Given the description of an element on the screen output the (x, y) to click on. 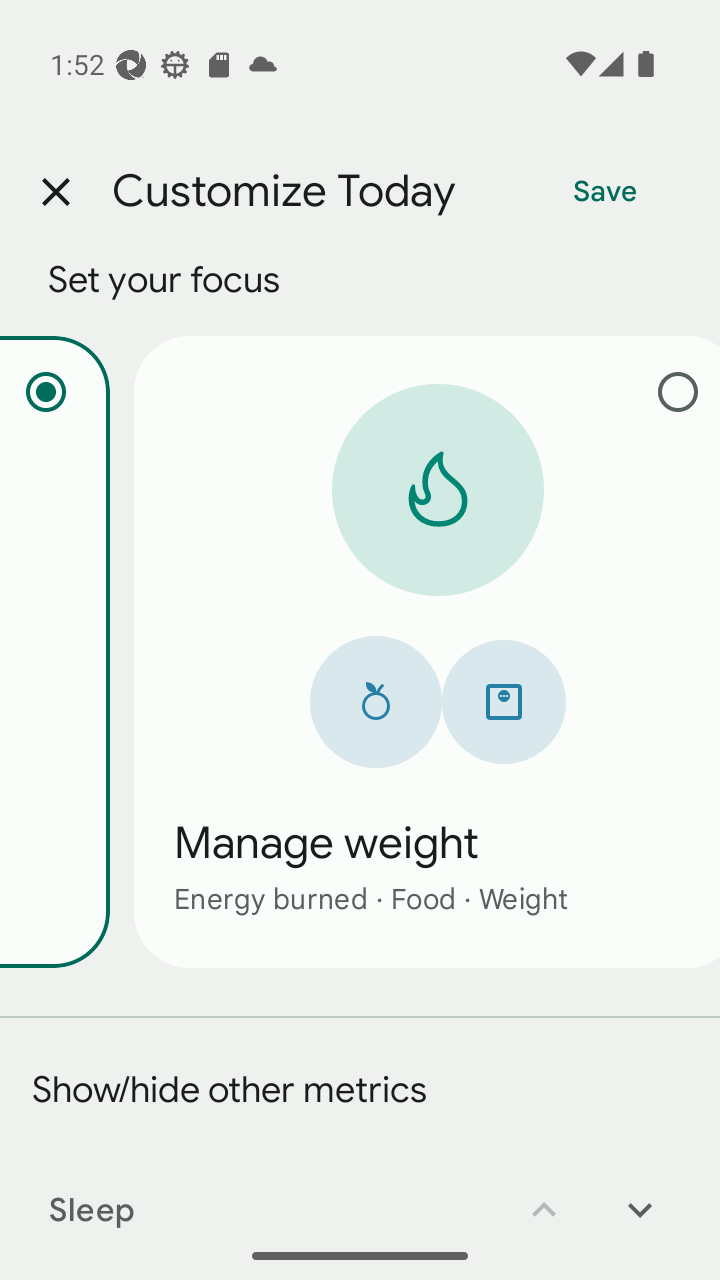
Close (55, 191)
Save (605, 191)
Manage weight Energy burned · Food · Weight (426, 651)
Move Sleep up (543, 1196)
Move Sleep down (639, 1196)
